Given the description of an element on the screen output the (x, y) to click on. 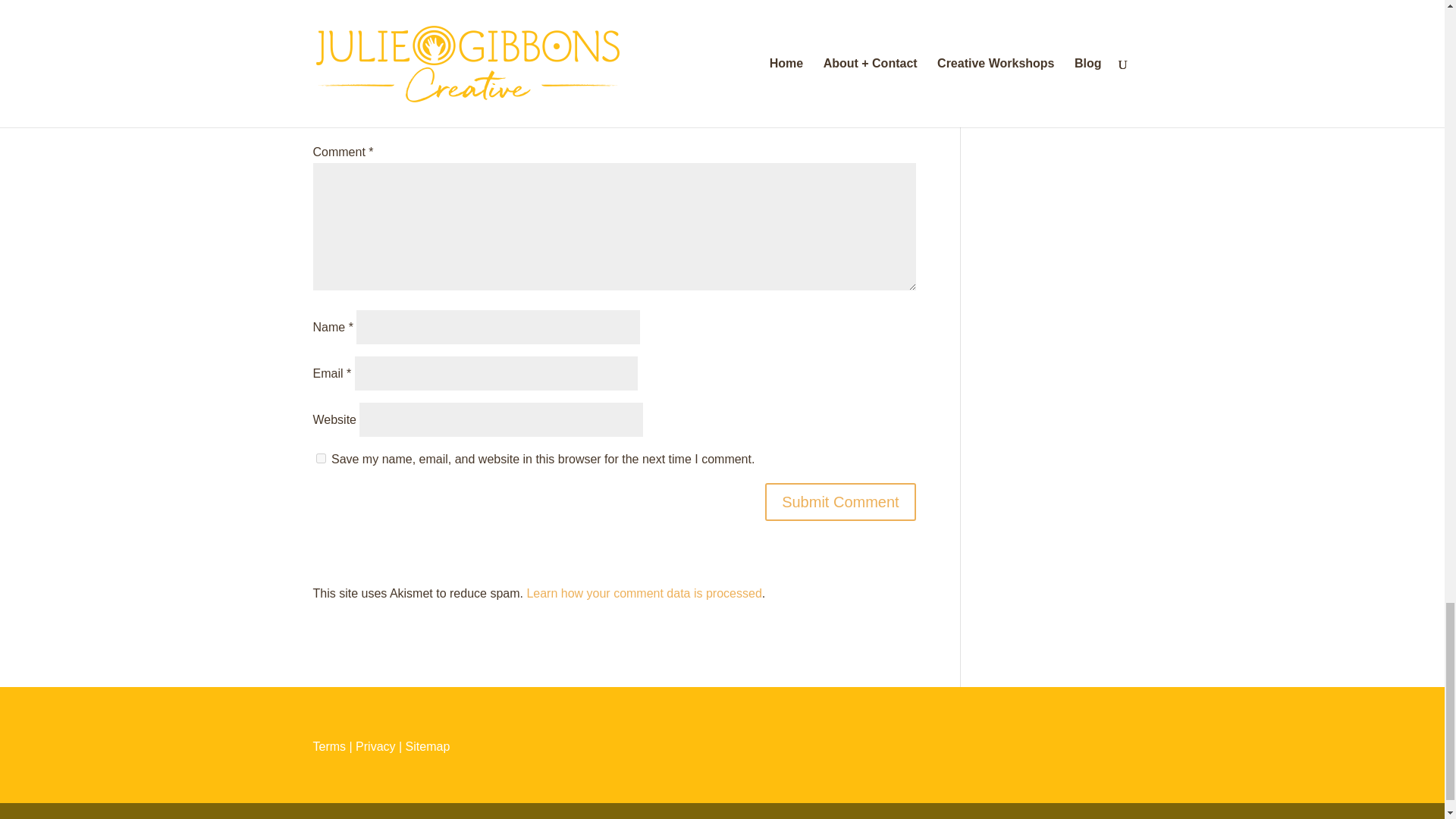
Submit Comment (840, 501)
yes (319, 458)
Submit Comment (840, 501)
Terms (329, 746)
Sitemap (427, 746)
Learn how your comment data is processed (643, 593)
Privacy (374, 746)
